Given the description of an element on the screen output the (x, y) to click on. 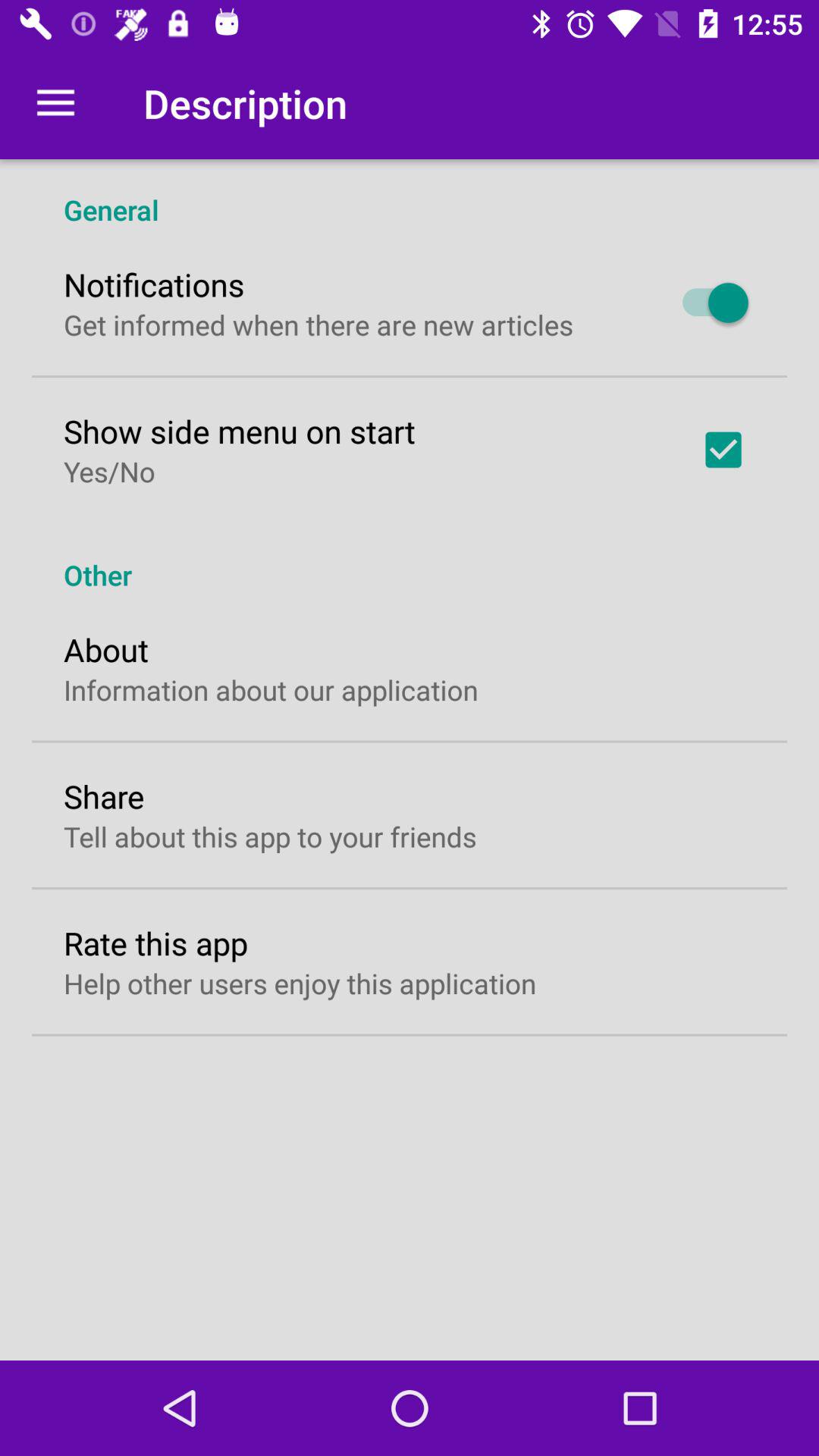
press item next to get informed when (707, 302)
